Given the description of an element on the screen output the (x, y) to click on. 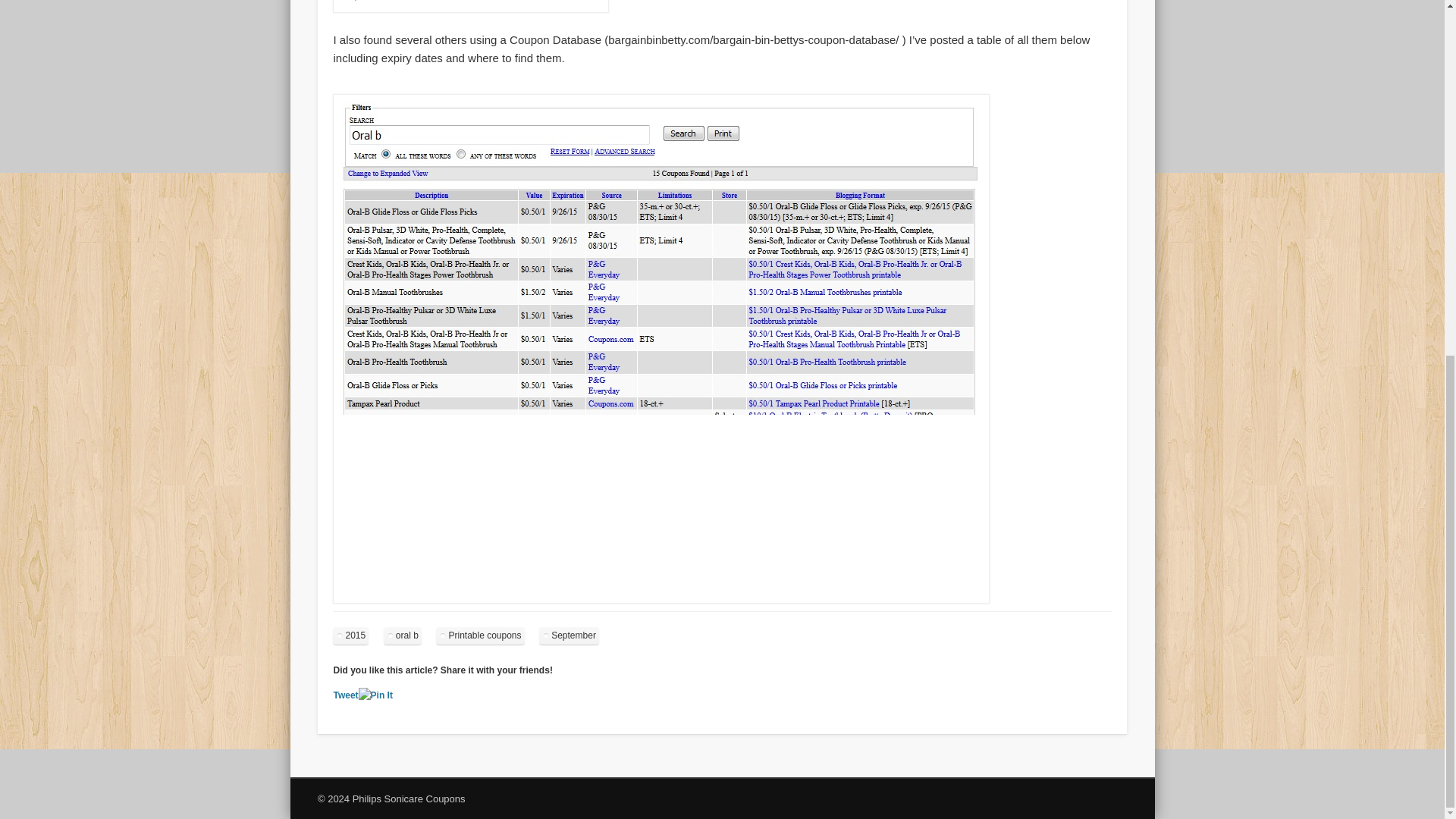
2015 (350, 635)
Tweet (345, 695)
Printable coupons (479, 635)
Pin It (375, 695)
September (568, 635)
oral b (403, 635)
